Given the description of an element on the screen output the (x, y) to click on. 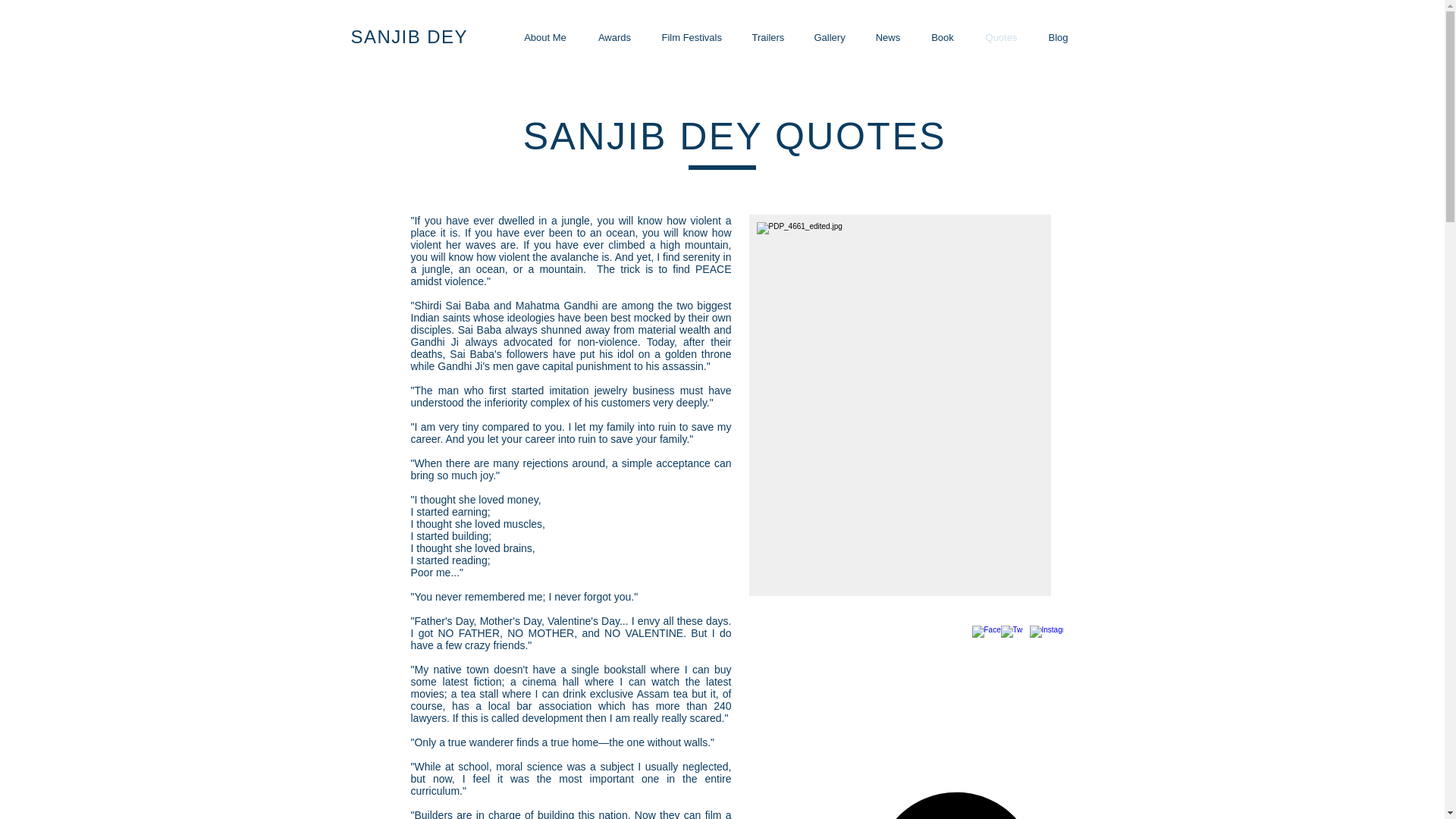
Spotify Player (956, 798)
Quotes (1000, 36)
SANJIB DEY (408, 36)
Film Festivals (691, 36)
Book (942, 36)
About Me (545, 36)
Gallery (829, 36)
Trailers (767, 36)
Blog (1057, 36)
Awards (614, 36)
